Given the description of an element on the screen output the (x, y) to click on. 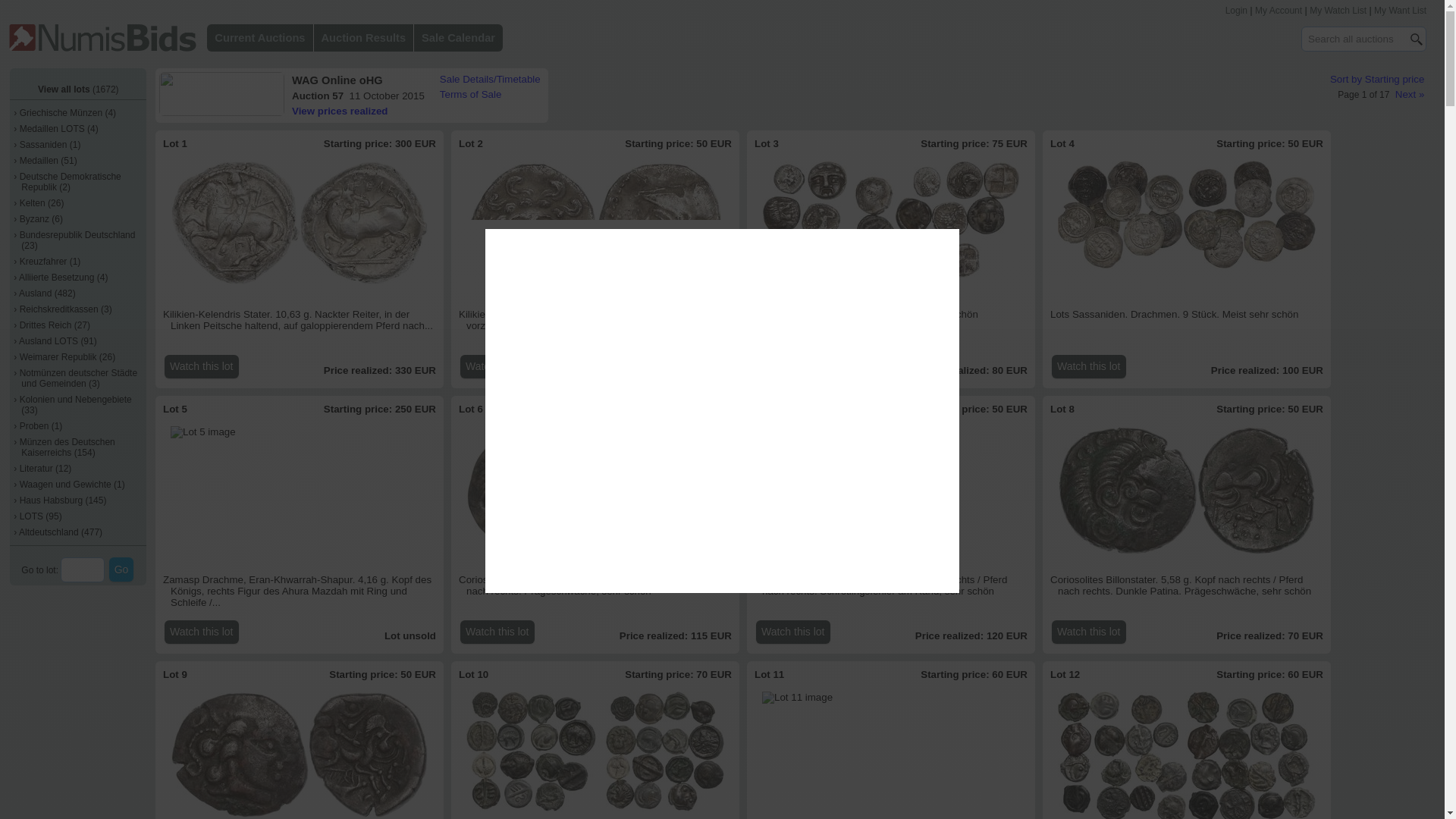
My Account (1278, 9)
My Want List (1400, 9)
My Watch List (1337, 9)
Watch this lot (497, 366)
Current Auctions (259, 37)
Watch this lot (792, 631)
Watch this lot (201, 631)
Watch this lot (1088, 366)
Watch this lot (497, 631)
Auction Results (363, 37)
Watch this lot (792, 366)
Go (121, 568)
Sale Calendar (458, 37)
Watch this lot (1088, 631)
Watch this lot (201, 366)
